Given the description of an element on the screen output the (x, y) to click on. 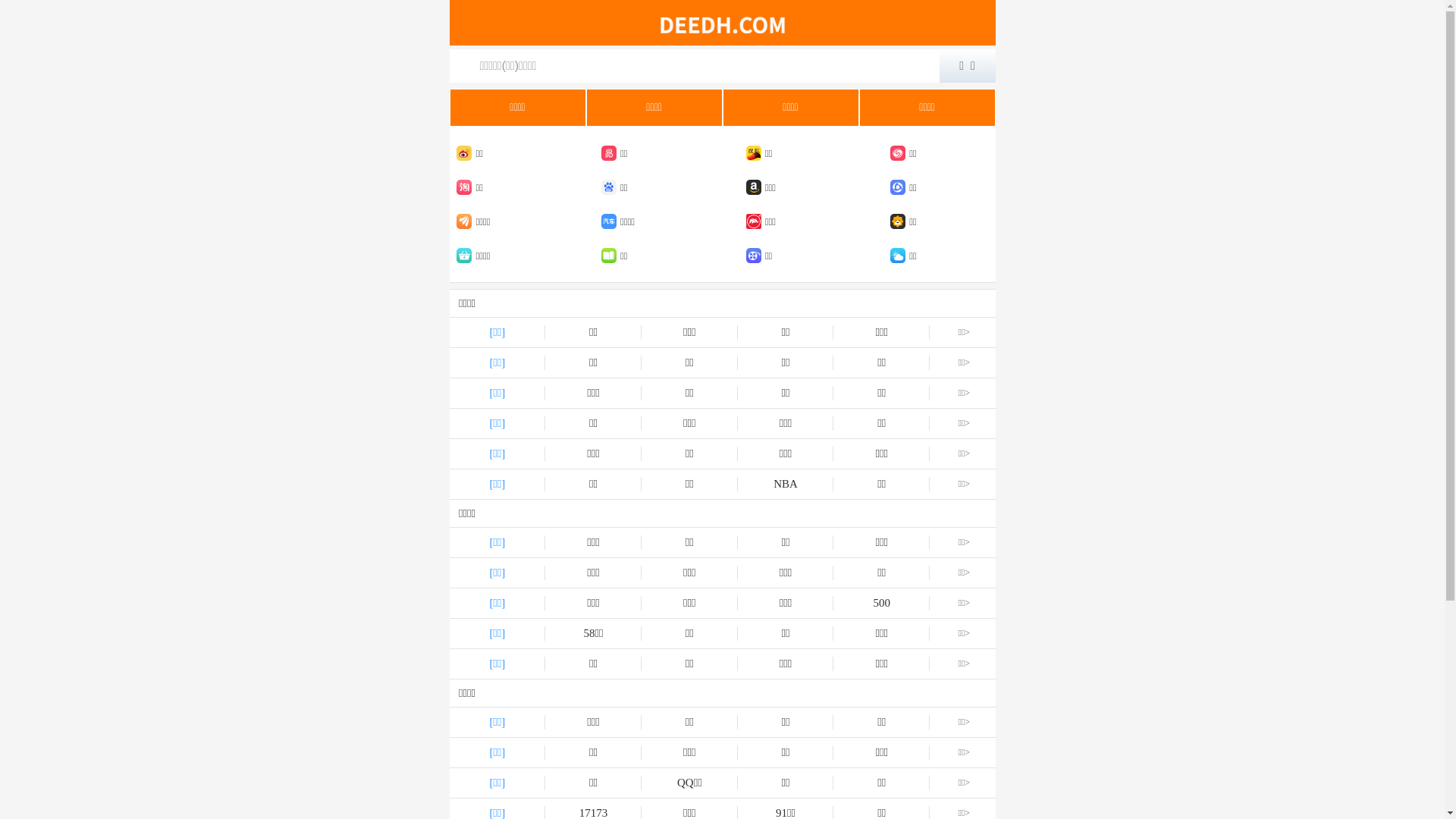
NBA Element type: text (785, 483)
500 Element type: text (881, 603)
